Given the description of an element on the screen output the (x, y) to click on. 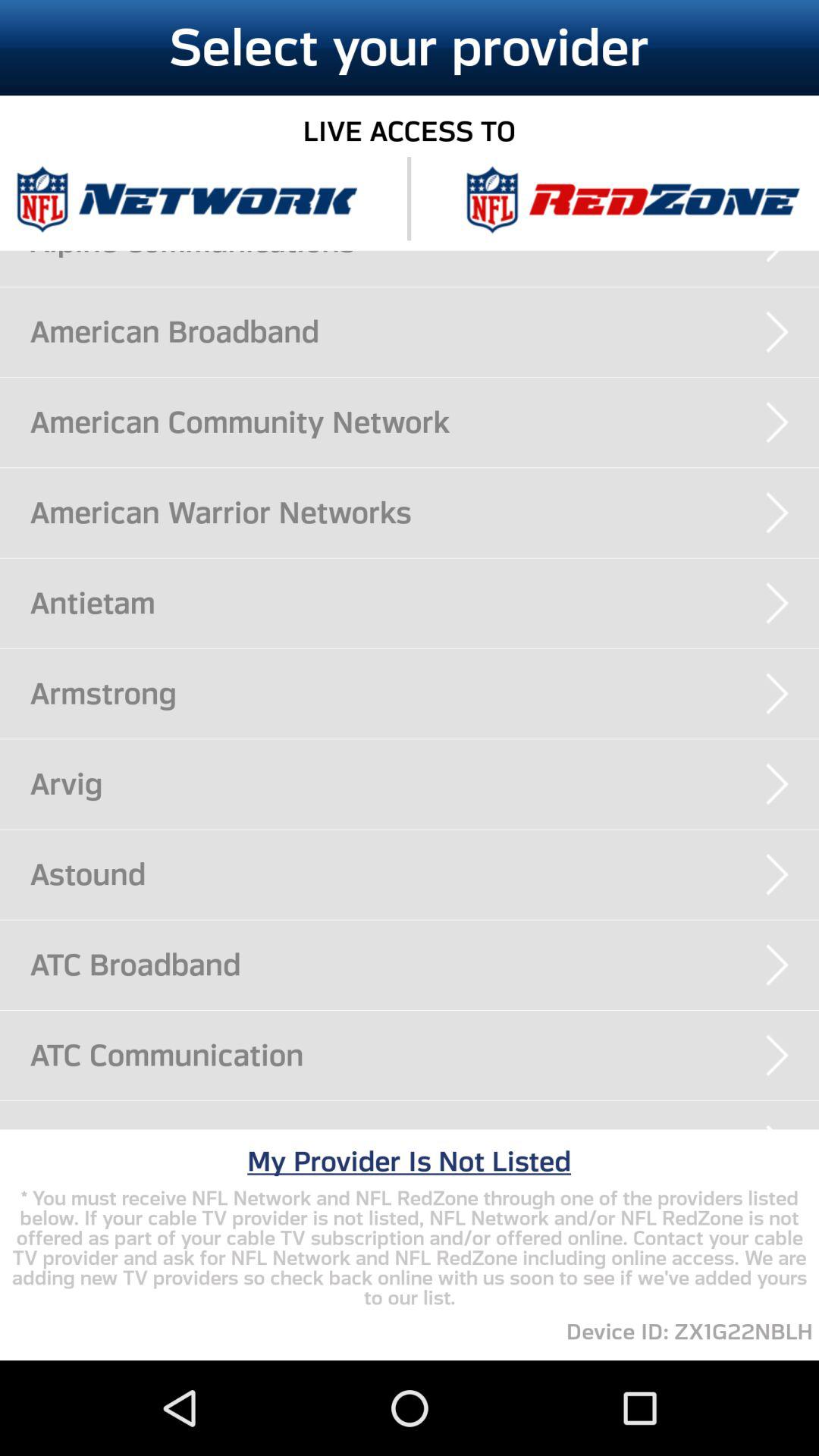
scroll until the alpine communications item (424, 254)
